Given the description of an element on the screen output the (x, y) to click on. 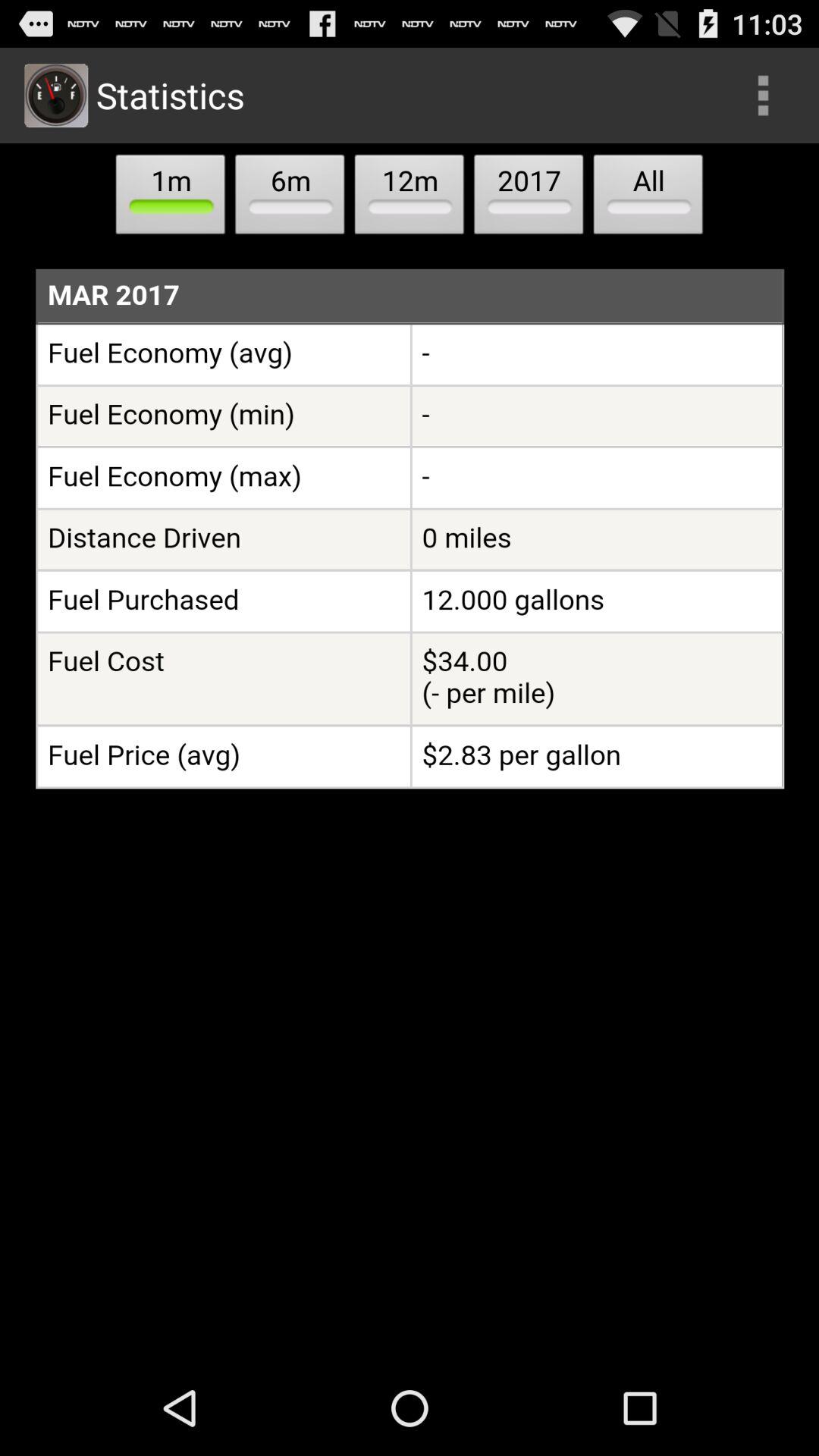
enters settings (763, 95)
